Given the description of an element on the screen output the (x, y) to click on. 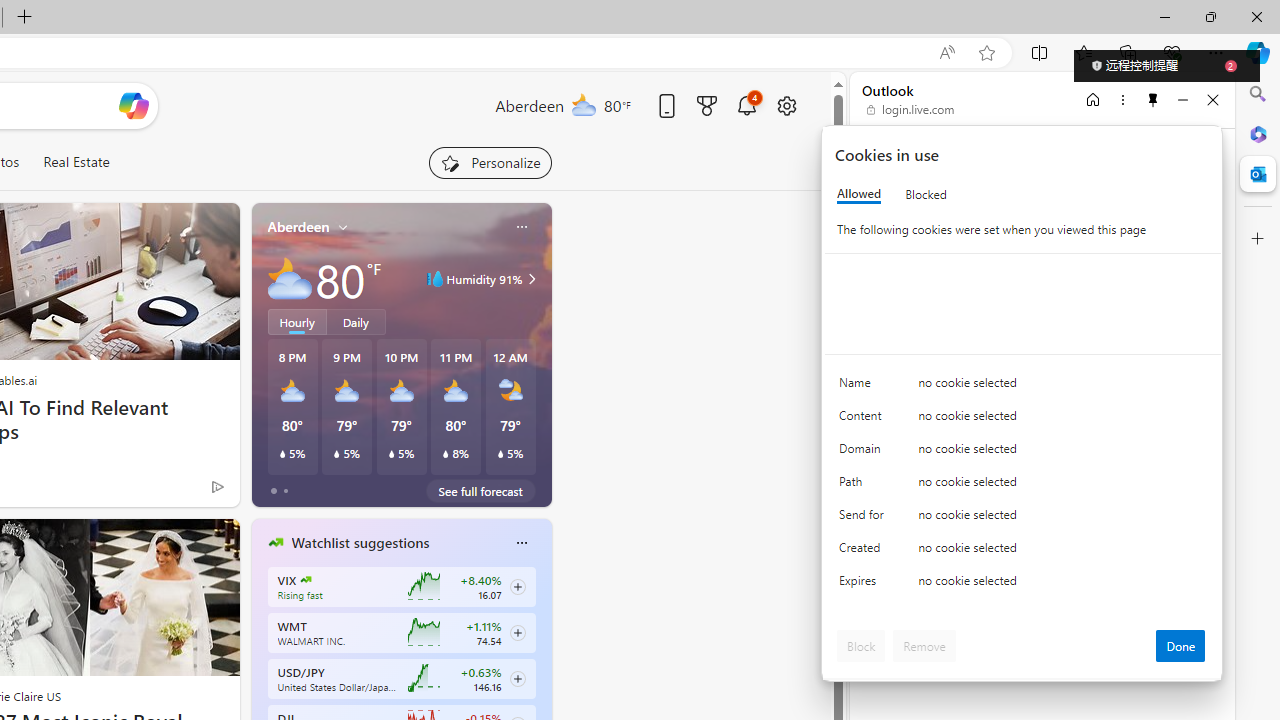
Class: weather-current-precipitation-glyph (500, 453)
See full forecast (480, 490)
Hide this story (178, 542)
next (541, 670)
login.live.com (911, 110)
My location (343, 227)
